Given the description of an element on the screen output the (x, y) to click on. 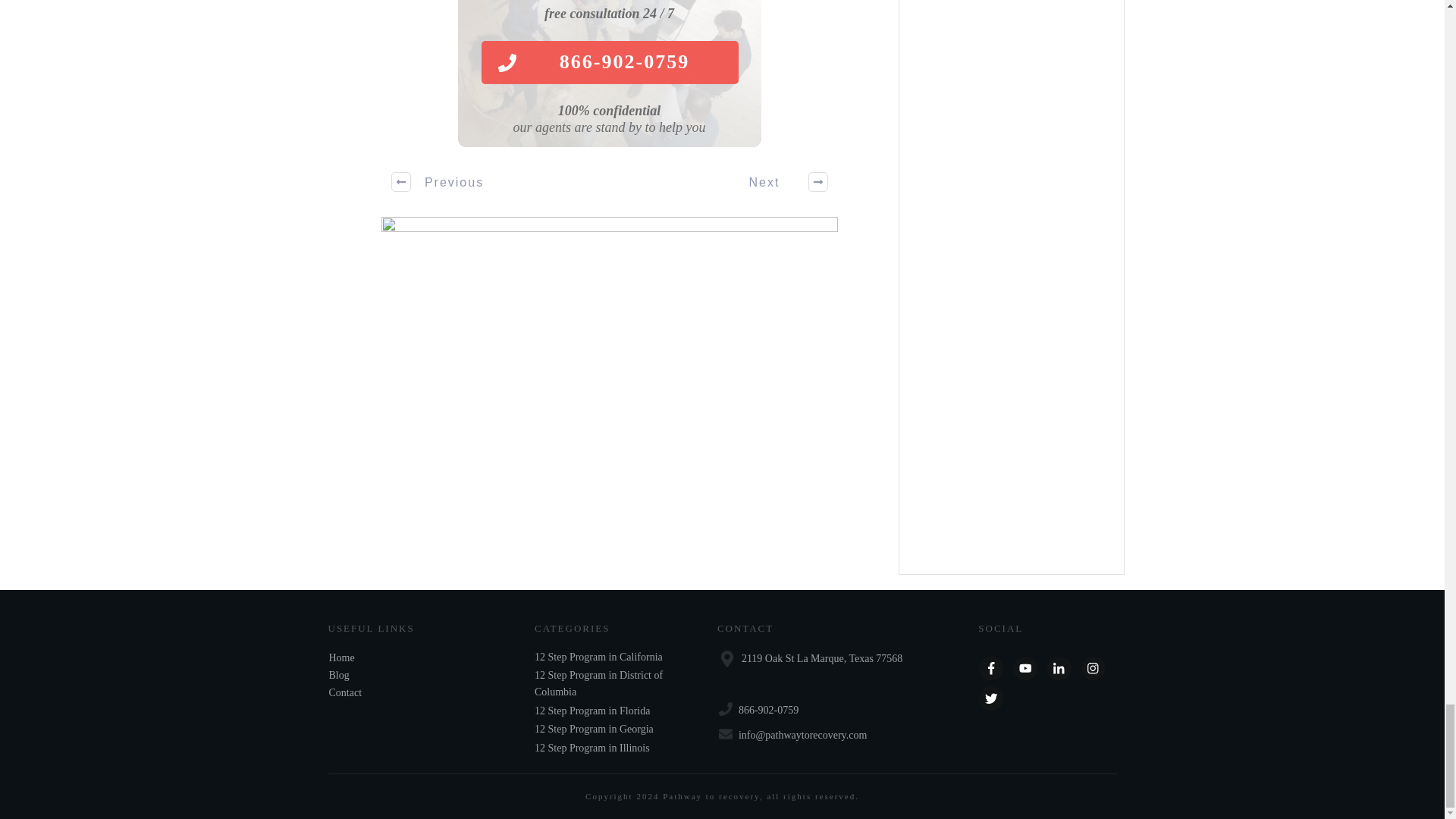
Next (780, 181)
866-902-0759 (609, 62)
Home (342, 657)
Previous (438, 181)
Blog (339, 674)
